Given the description of an element on the screen output the (x, y) to click on. 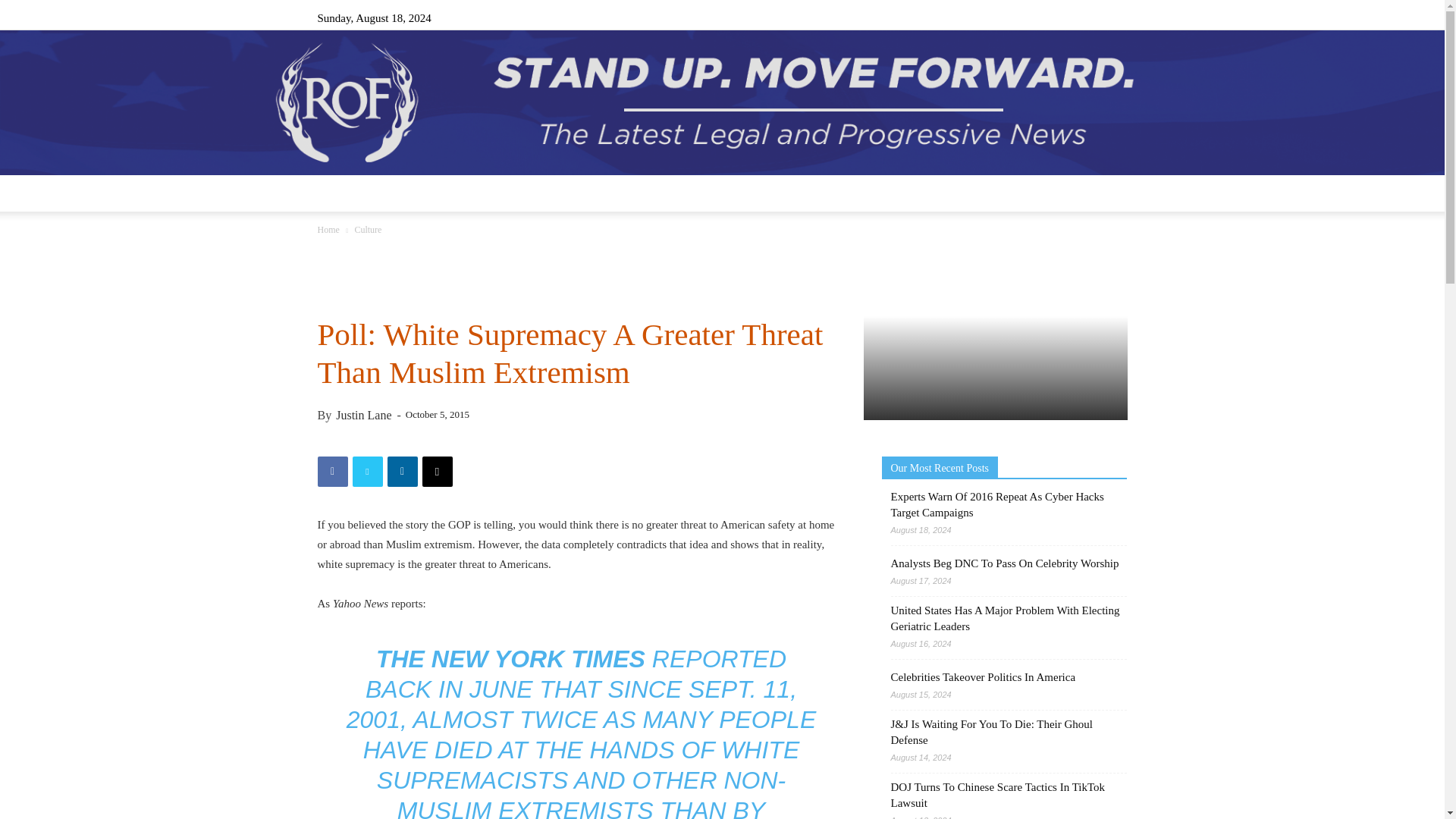
Instagram (1040, 17)
Youtube (1114, 17)
Twitter (1090, 17)
Facebook (1015, 17)
RSS (1065, 17)
